Given the description of an element on the screen output the (x, y) to click on. 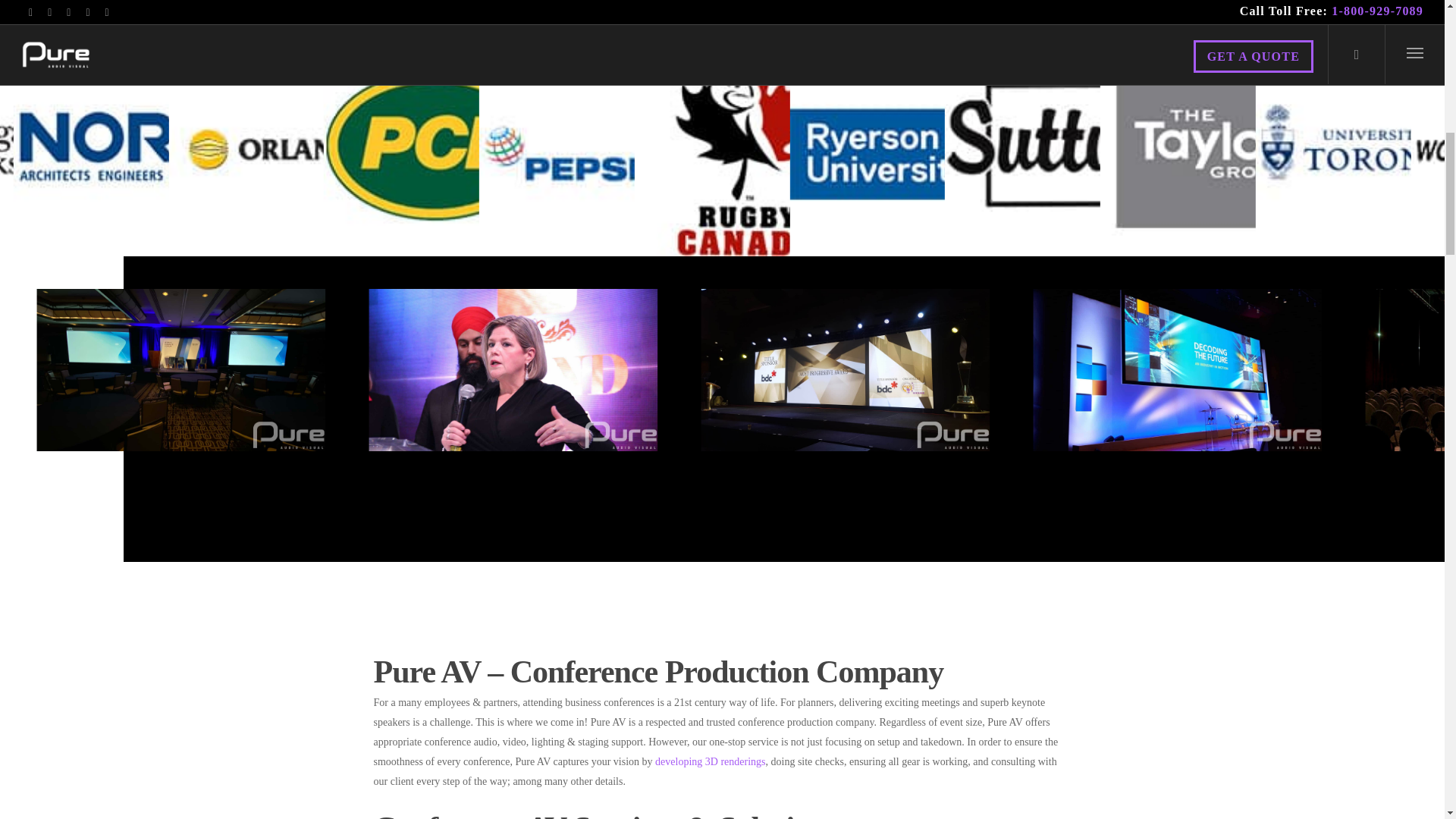
developing 3D renderings (710, 761)
